Given the description of an element on the screen output the (x, y) to click on. 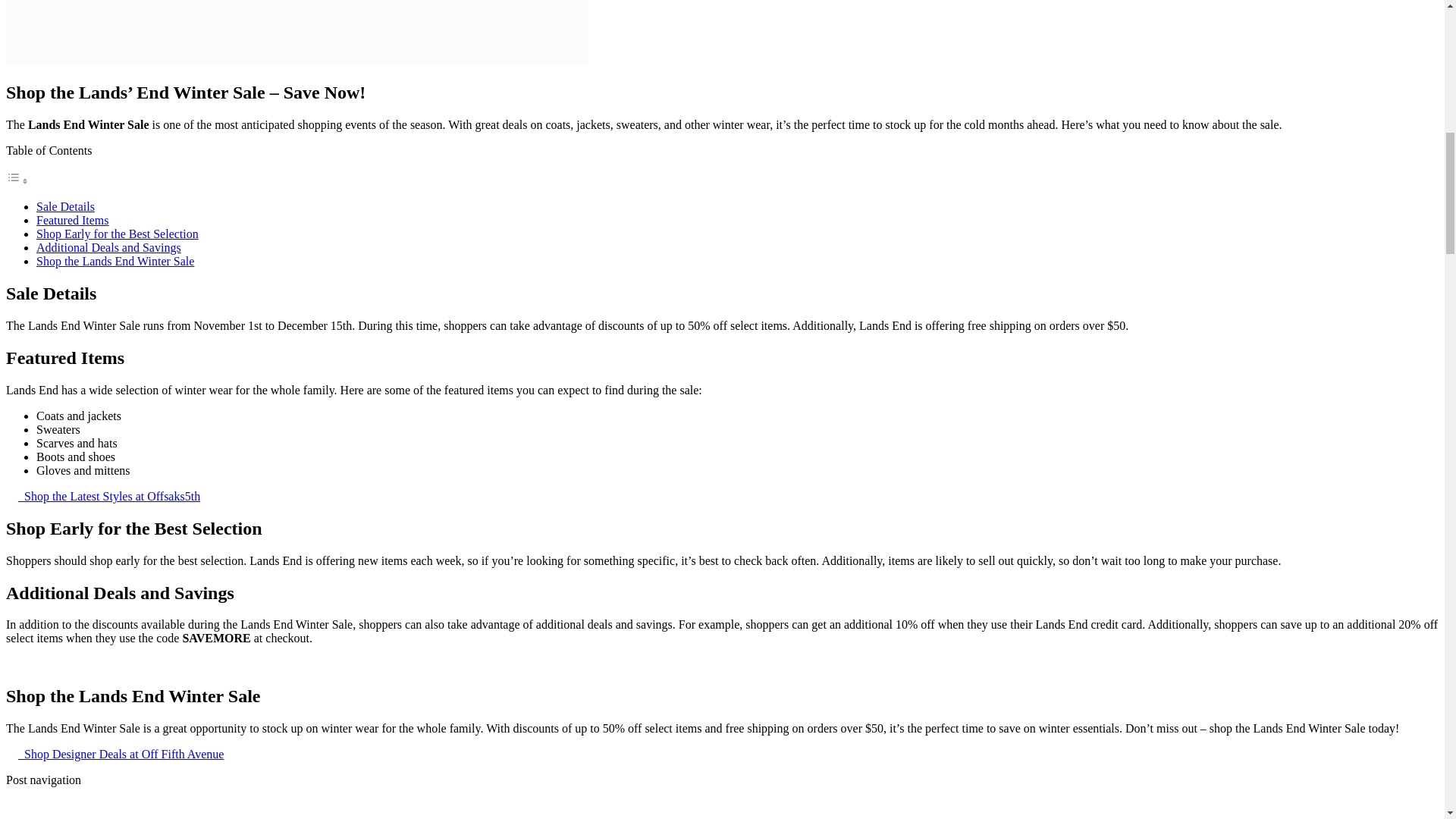
Shop Early for the Best Selection (117, 233)
Shop Early for the Best Selection (117, 233)
Sale Details (65, 205)
Featured Items (72, 219)
Shop the Lands End Winter Sale (114, 260)
Featured Items (72, 219)
Additional Deals and Savings (108, 246)
Sale Details (65, 205)
